Given the description of an element on the screen output the (x, y) to click on. 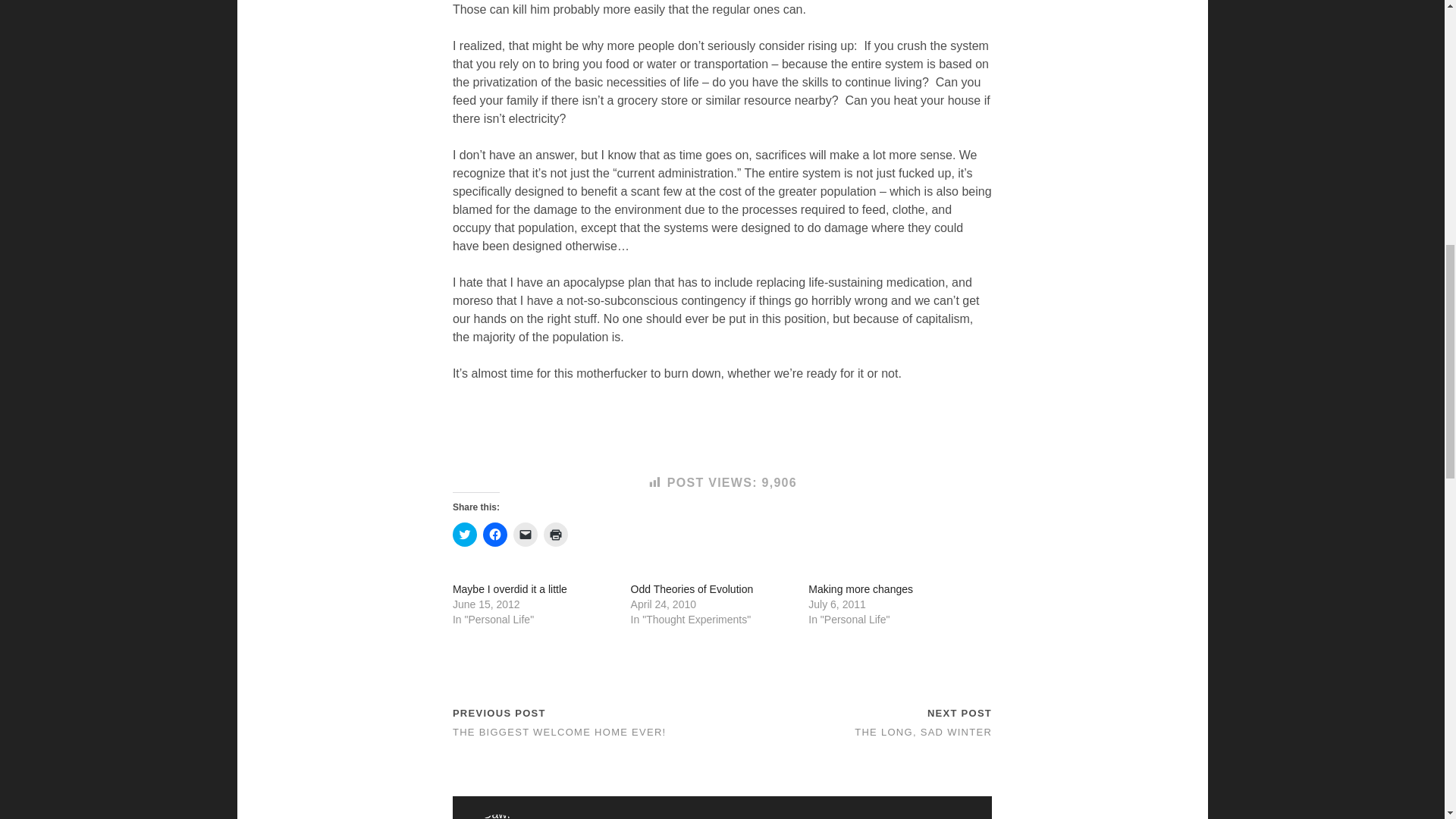
THE LONG, SAD WINTER (922, 731)
Maybe I overdid it a little (509, 589)
Odd Theories of Evolution (692, 589)
THE BIGGEST WELCOME HOME EVER! (559, 731)
Click to share on Twitter (464, 534)
Odd Theories of Evolution (692, 589)
Maybe I overdid it a little (509, 589)
Click to print (555, 534)
Making more changes (860, 589)
Making more changes (860, 589)
Click to share on Facebook (494, 534)
Click to email a link to a friend (525, 534)
